Given the description of an element on the screen output the (x, y) to click on. 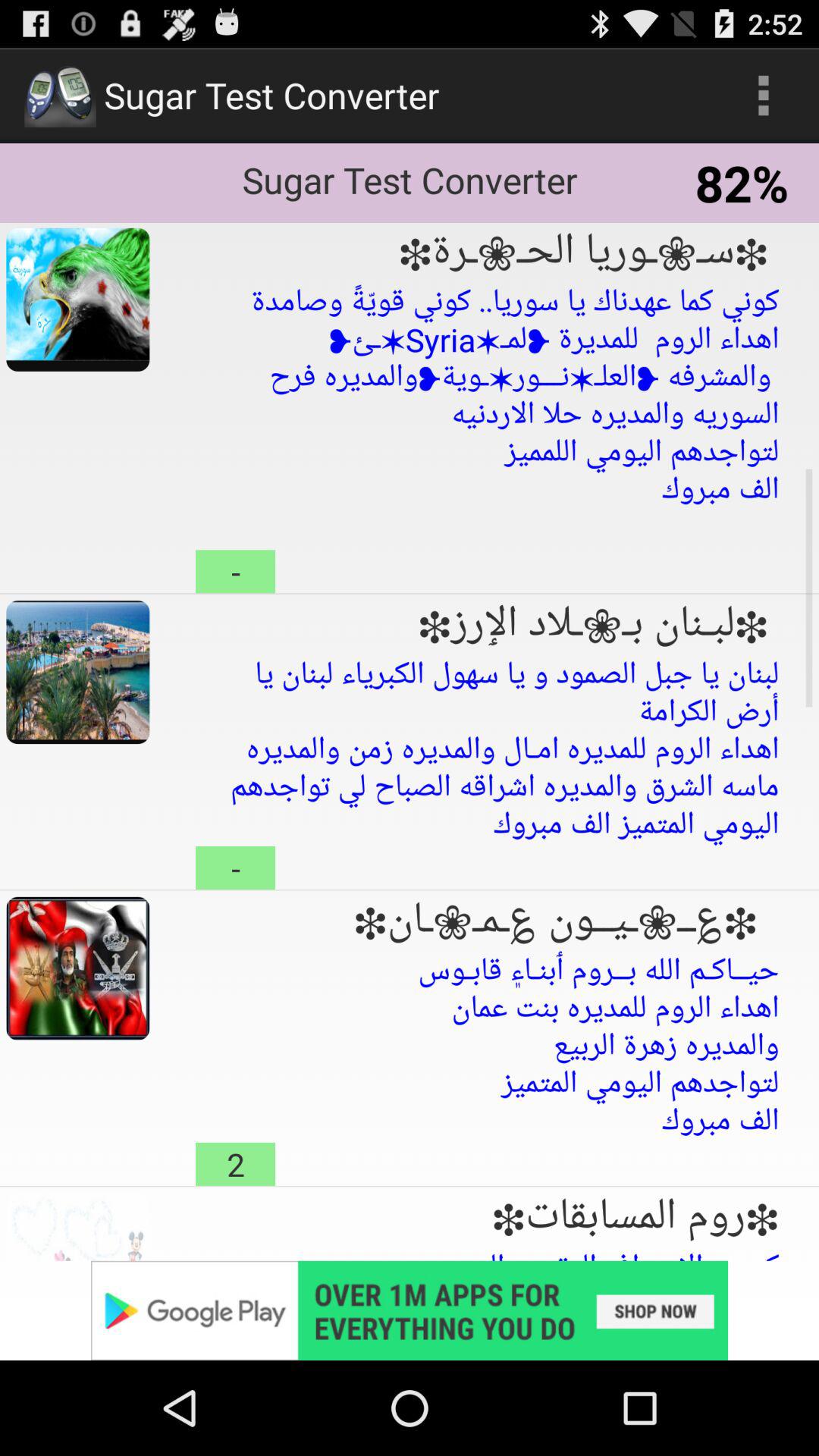
google search (409, 1310)
